Given the description of an element on the screen output the (x, y) to click on. 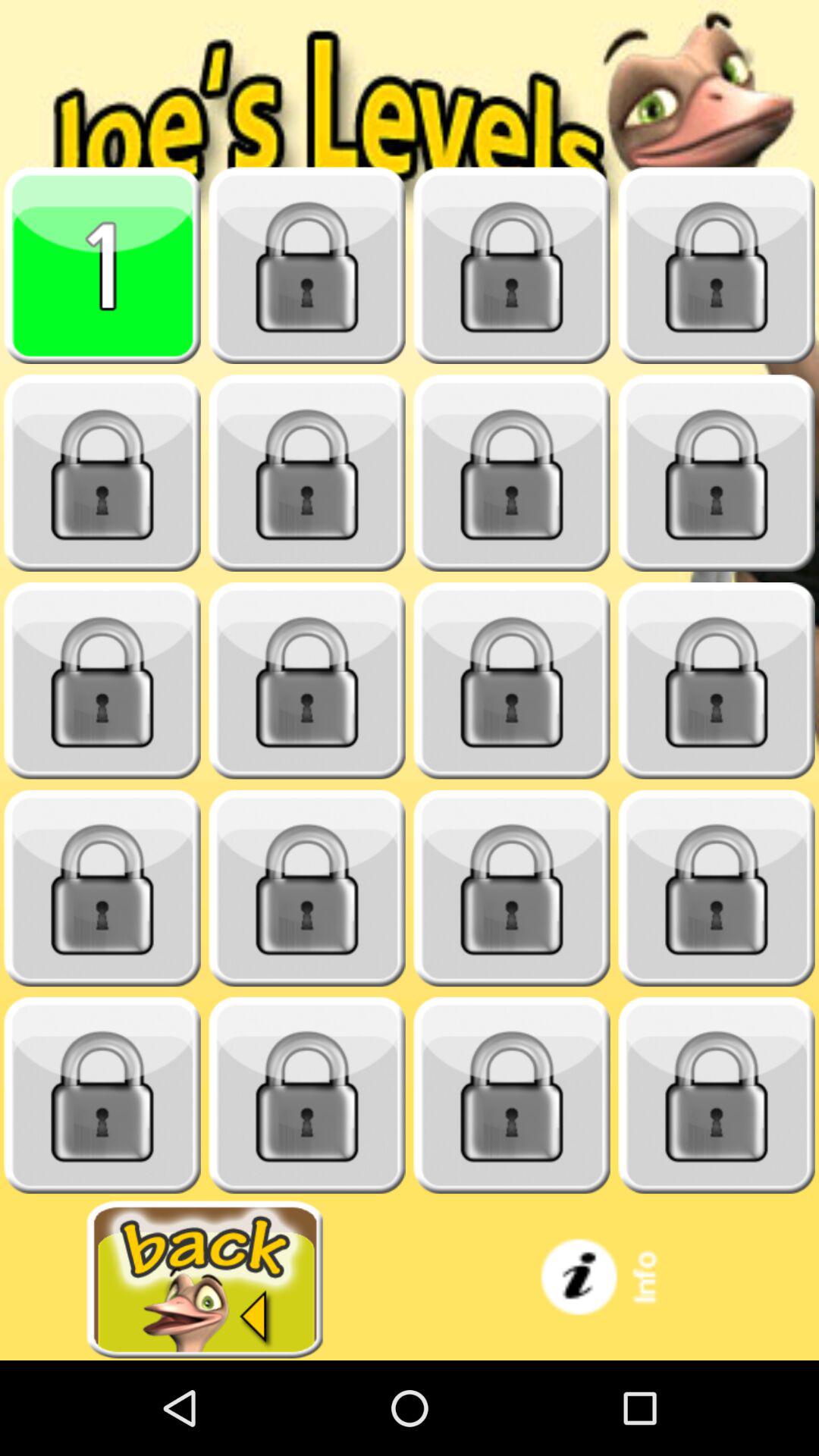
lock button (716, 887)
